Given the description of an element on the screen output the (x, y) to click on. 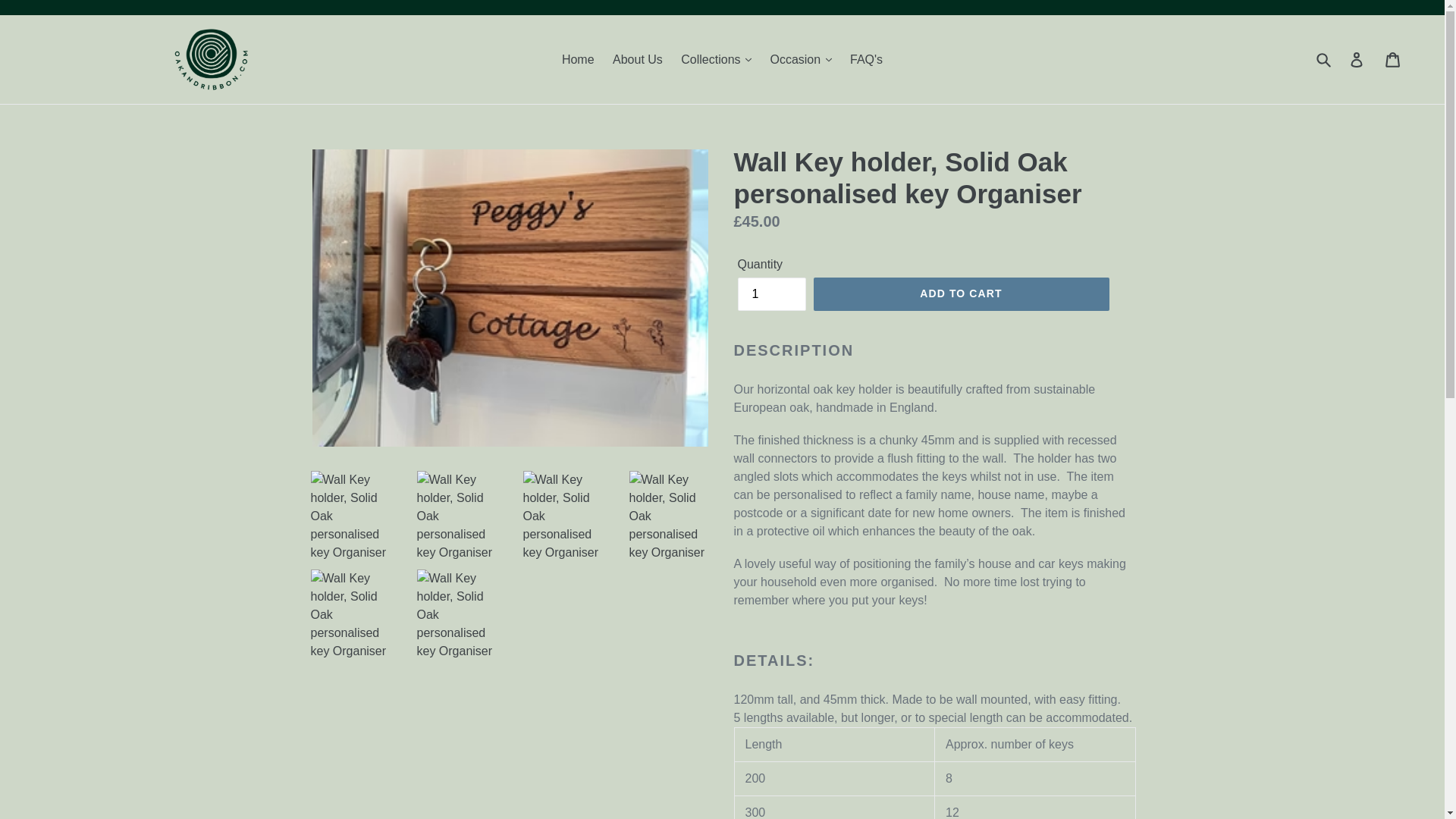
Log in (1356, 59)
1 (770, 294)
Cart (1393, 59)
Home (578, 59)
About Us (637, 59)
Submit (1324, 59)
FAQ's (866, 59)
